Given the description of an element on the screen output the (x, y) to click on. 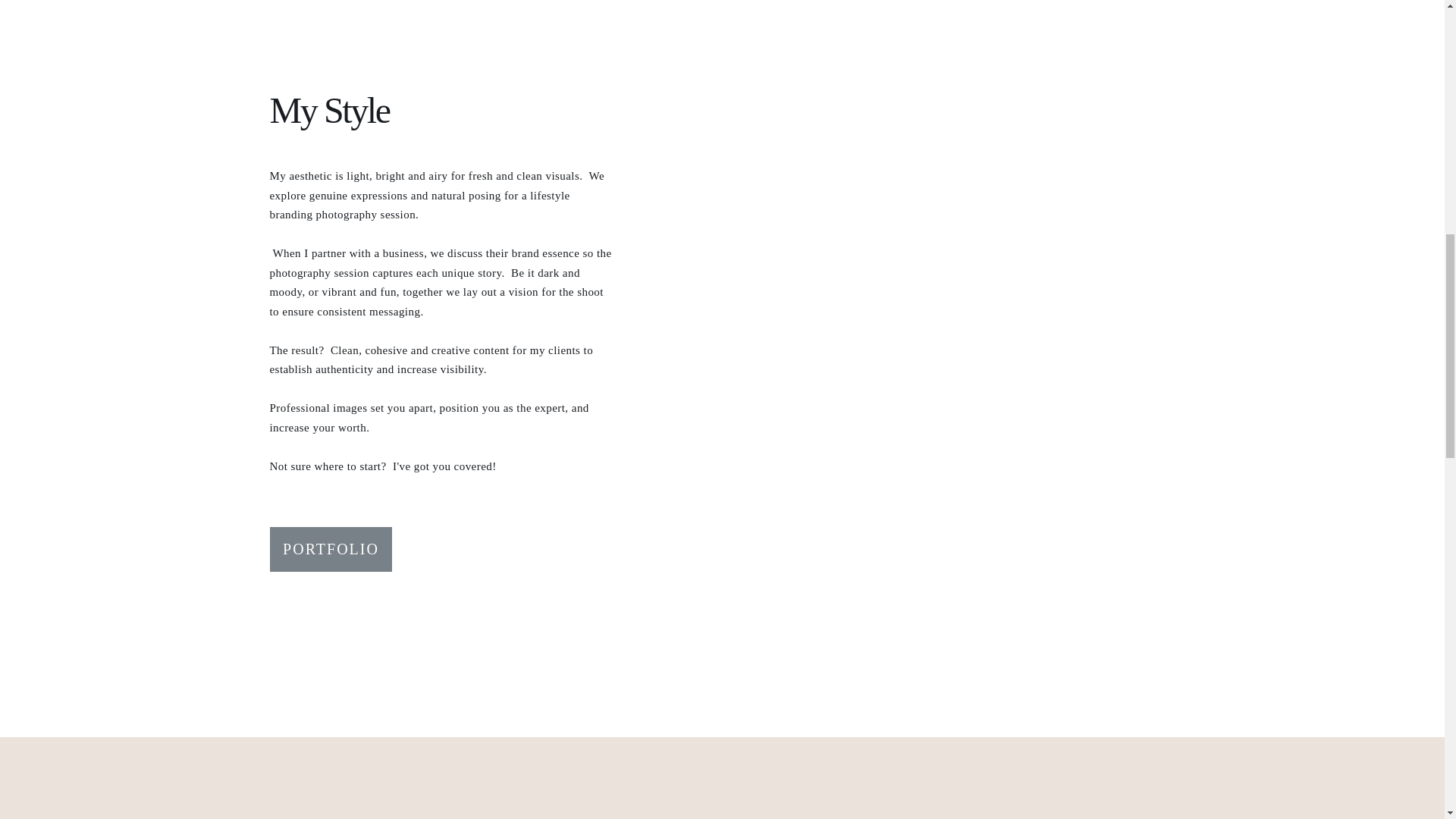
PORTFOLIO (330, 550)
